Given the description of an element on the screen output the (x, y) to click on. 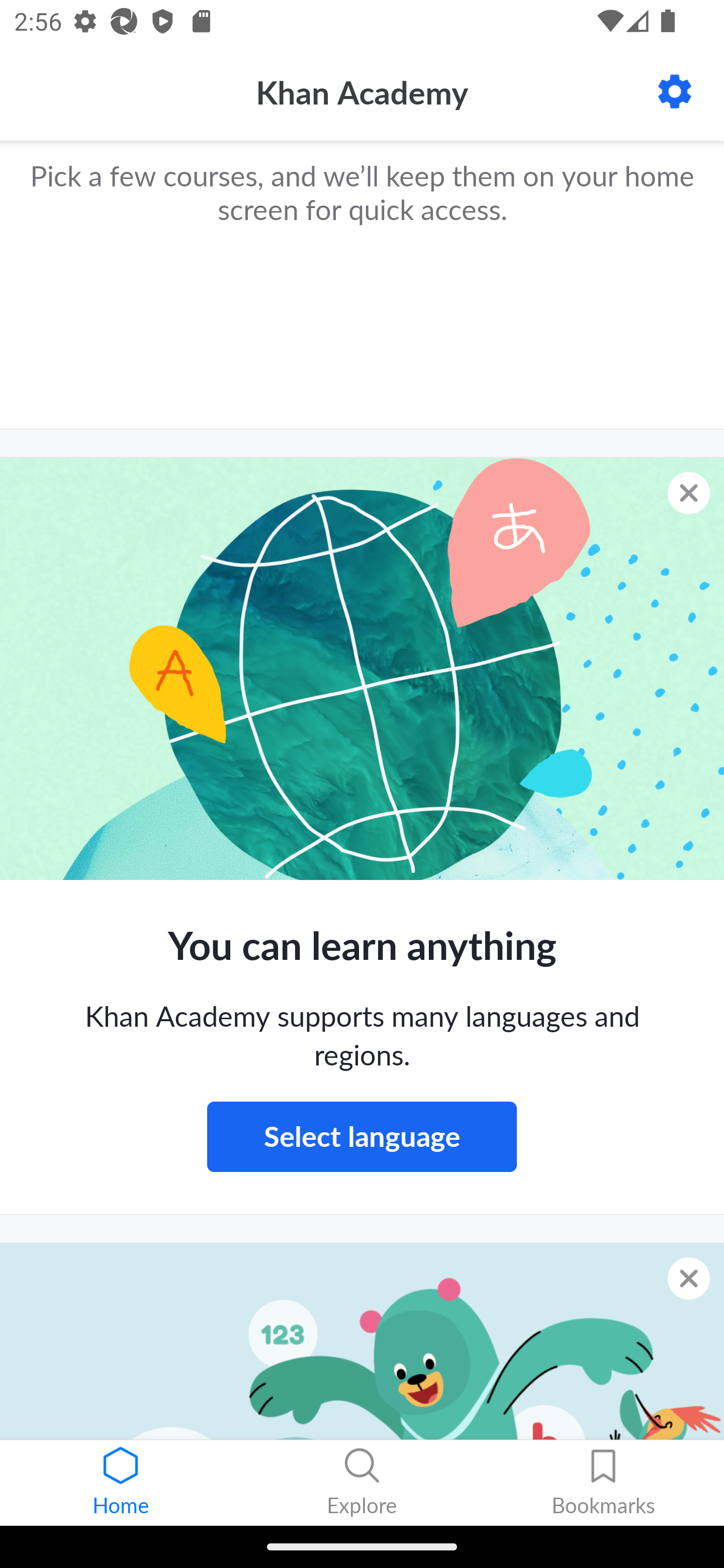
Settings (674, 91)
Dismiss (688, 492)
Select language (361, 1136)
Dismiss (688, 1278)
Home (120, 1482)
Explore (361, 1482)
Bookmarks (603, 1482)
